Given the description of an element on the screen output the (x, y) to click on. 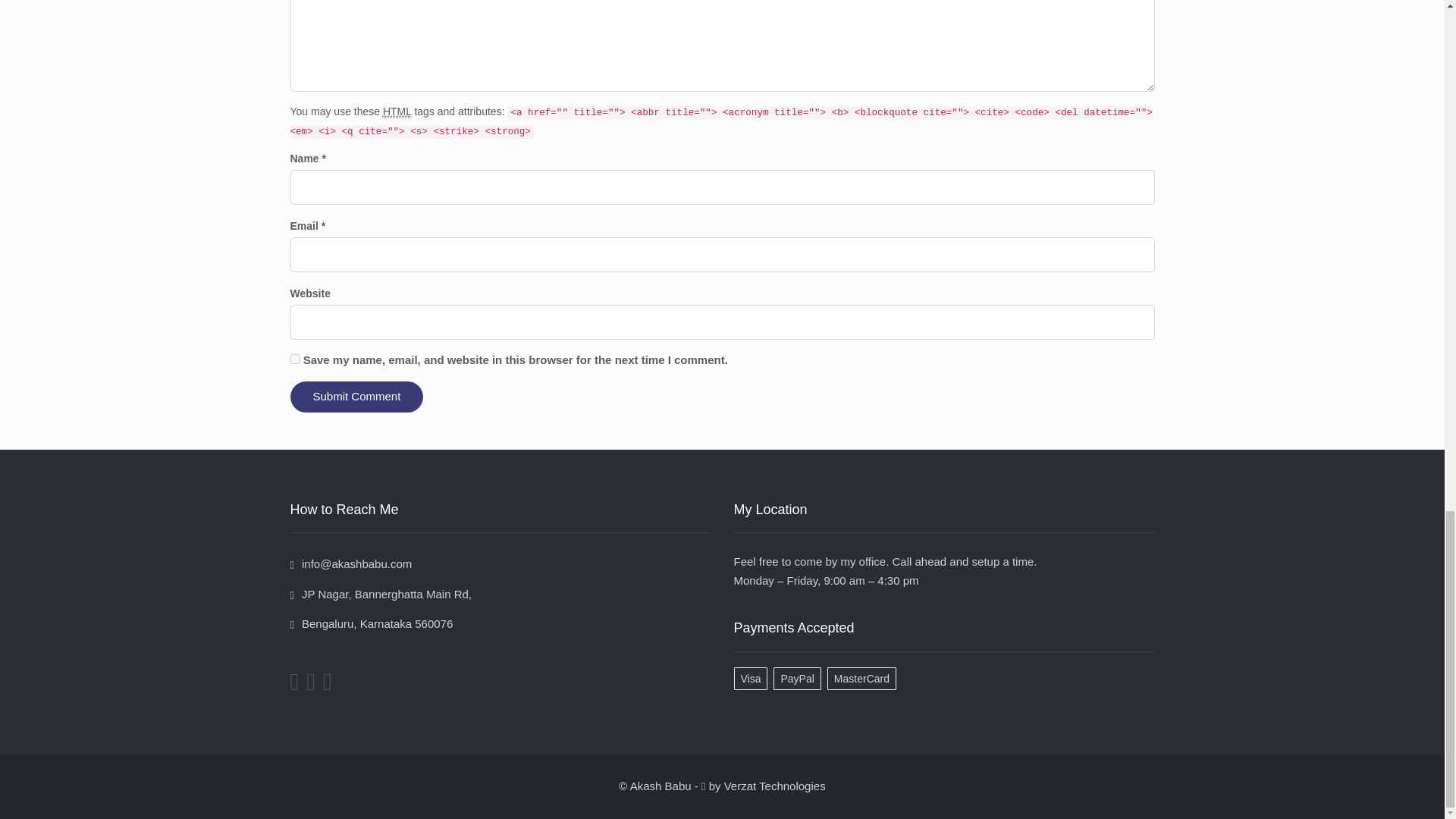
yes (294, 358)
Visa (753, 678)
Bengaluru, Karnataka 560076 (370, 623)
MasterCard (864, 678)
Verzat Technologies (774, 785)
Submit Comment (356, 396)
JP Nagar, Bannerghatta Main Rd, (380, 594)
HyperText Markup Language (397, 111)
Submit Comment (356, 396)
PayPal (800, 678)
